Given the description of an element on the screen output the (x, y) to click on. 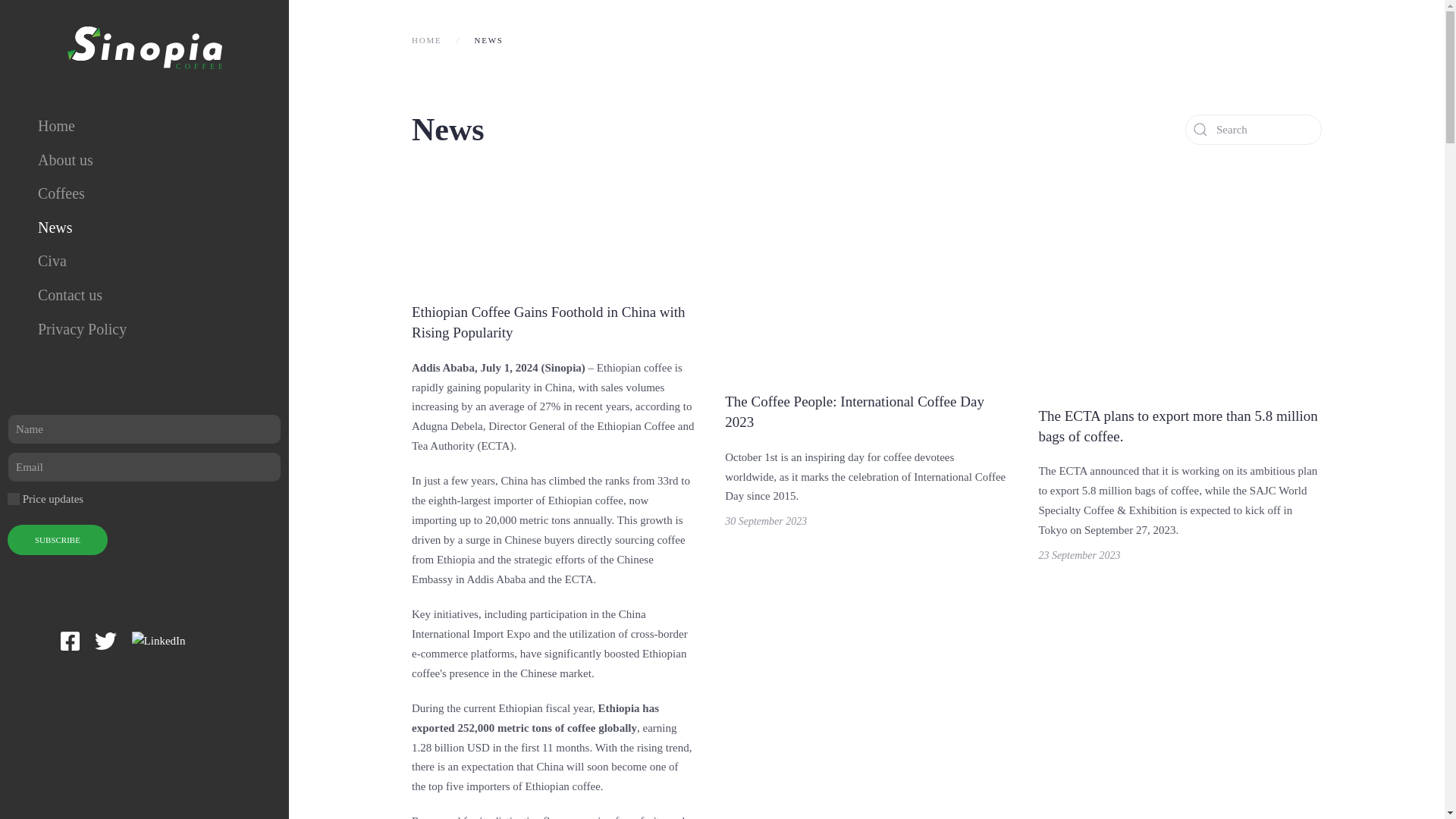
Subscribe (57, 539)
Privacy Policy (143, 329)
Coffees (143, 193)
2 (13, 499)
Civa (143, 261)
News (143, 227)
Contact us (143, 295)
HOME (427, 40)
About us (143, 160)
Home (143, 125)
